Given the description of an element on the screen output the (x, y) to click on. 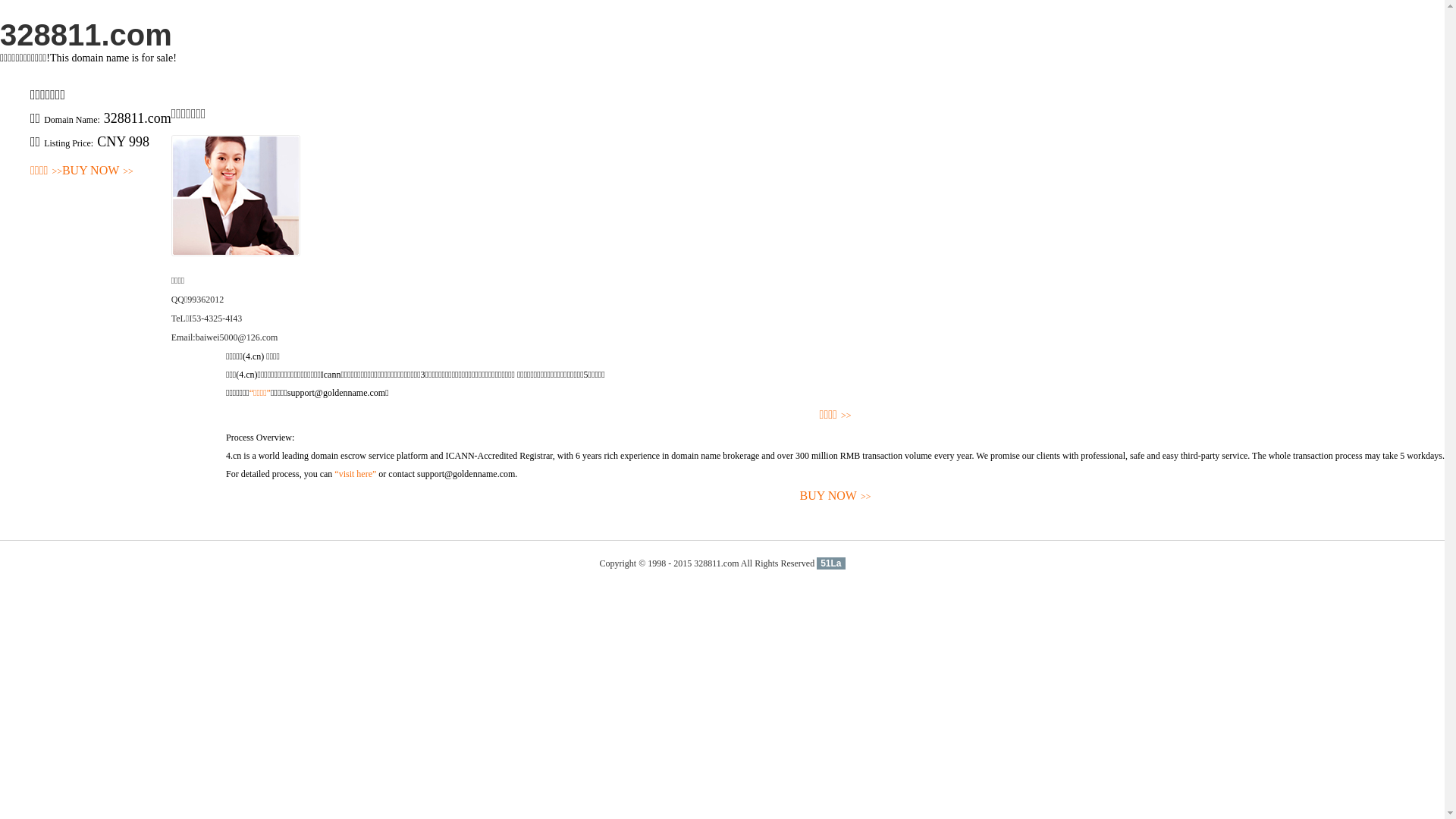
BUY NOW>> Element type: text (834, 496)
BUY NOW>> Element type: text (97, 170)
51La Element type: text (830, 563)
